Given the description of an element on the screen output the (x, y) to click on. 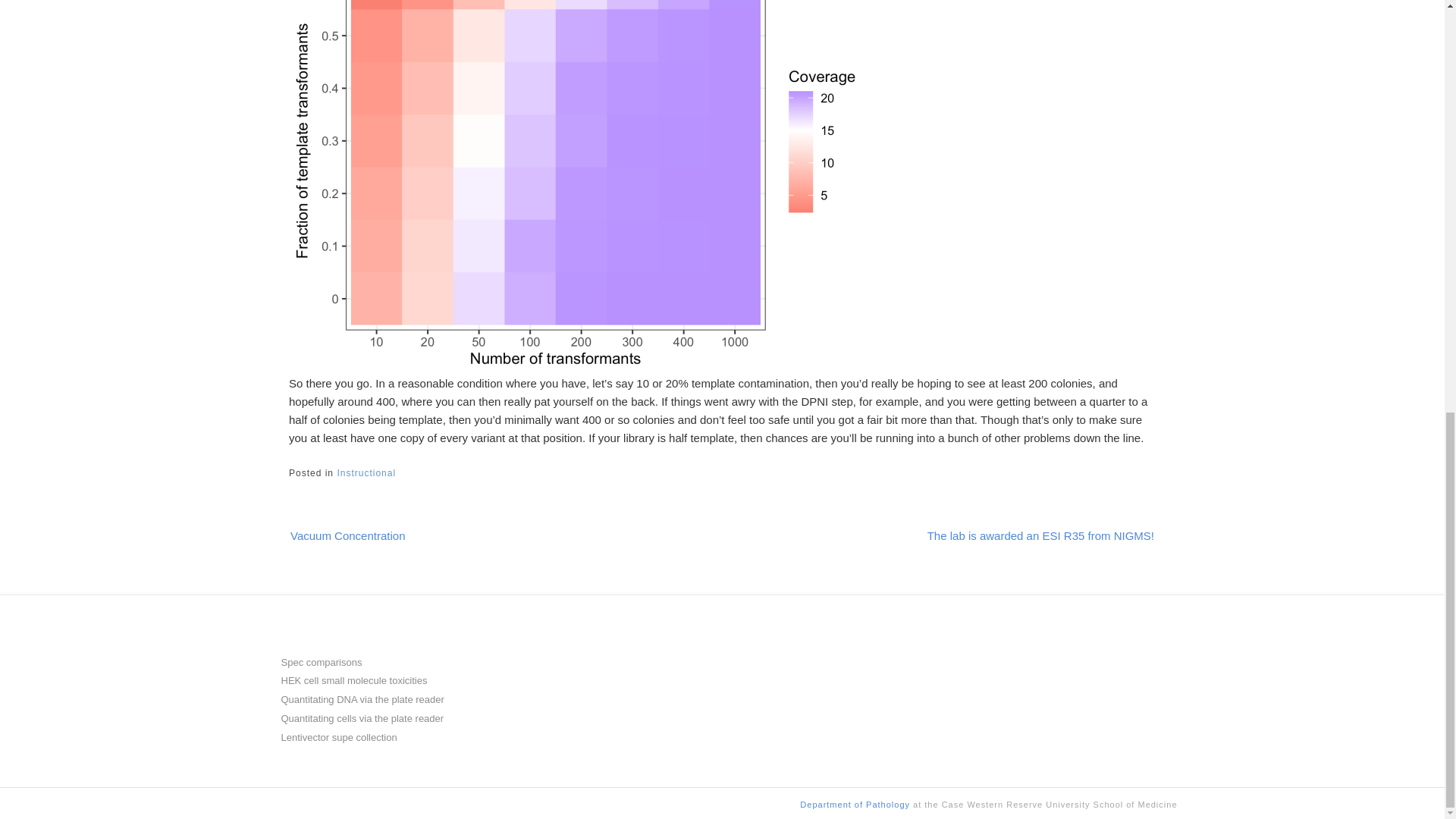
Quantitating DNA via the plate reader (362, 699)
Vacuum Concentration (361, 533)
Lentivector supe collection (338, 737)
Department of Pathology (854, 804)
Quantitating cells via the plate reader (362, 717)
Spec comparisons (321, 662)
HEK cell small molecule toxicities (353, 680)
The lab is awarded an ESI R35 from NIGMS! (1026, 533)
Instructional (366, 472)
